Given the description of an element on the screen output the (x, y) to click on. 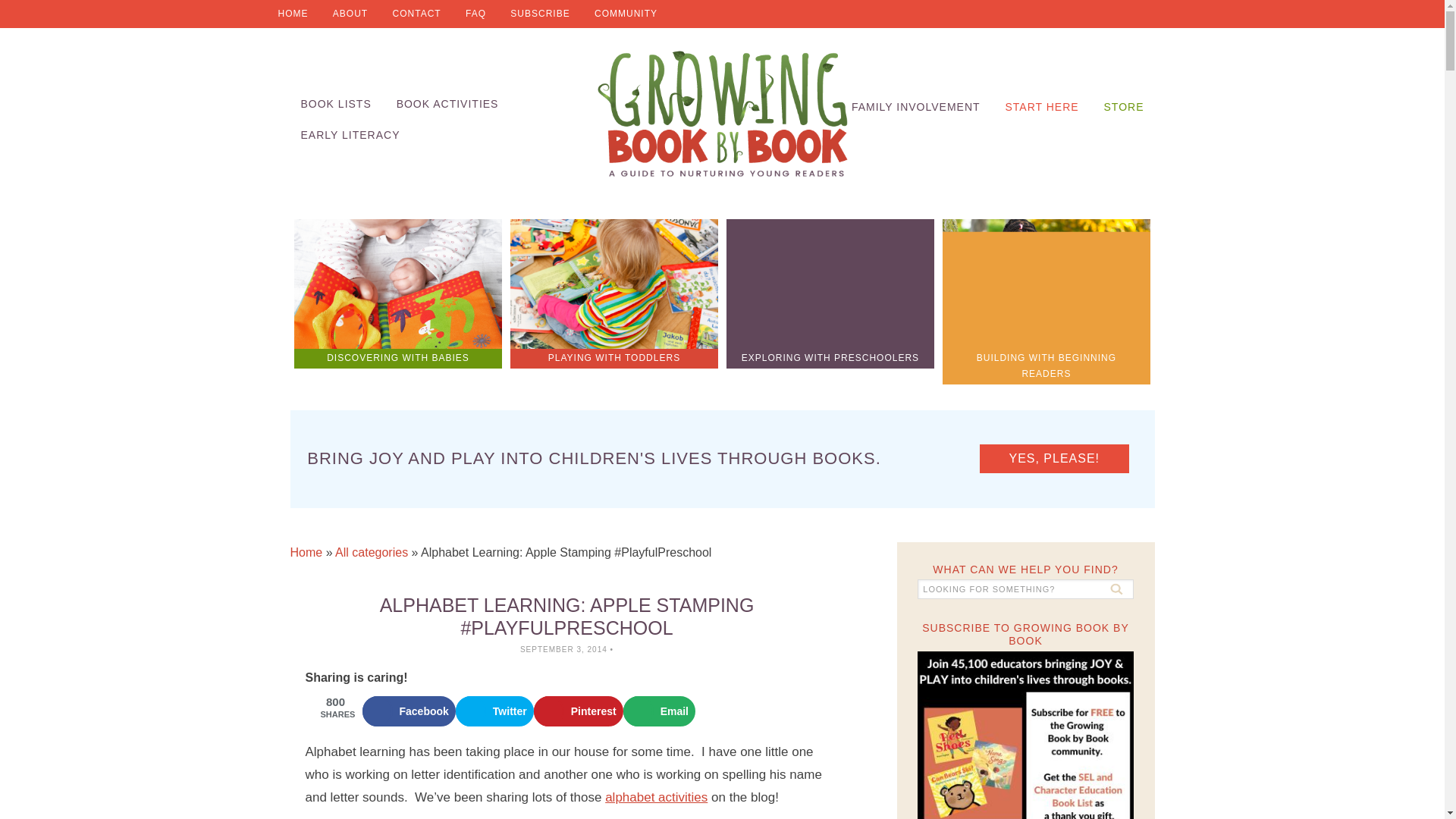
Send over email (659, 711)
COMMUNITY (625, 13)
CONTACT (416, 13)
SUBSCRIBE (539, 13)
GROWING BOOK BY BOOK (721, 113)
EARLY LITERACY (349, 134)
FAMILY INVOLVEMENT (916, 106)
ABOUT (349, 13)
FAQ (475, 13)
START HERE (1041, 106)
